Given the description of an element on the screen output the (x, y) to click on. 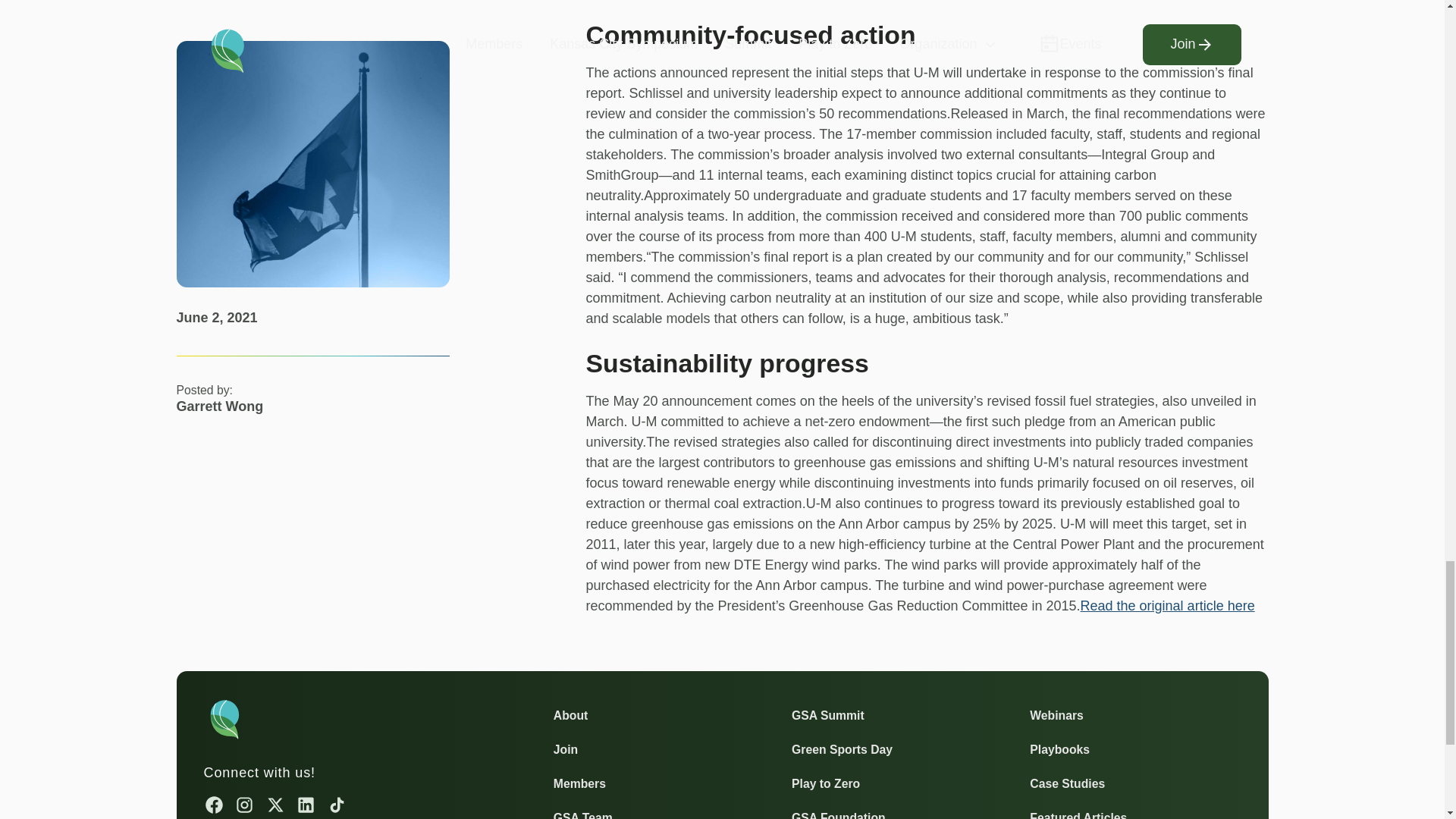
Join (565, 749)
Read the original article here (1167, 605)
About (570, 715)
